Given the description of an element on the screen output the (x, y) to click on. 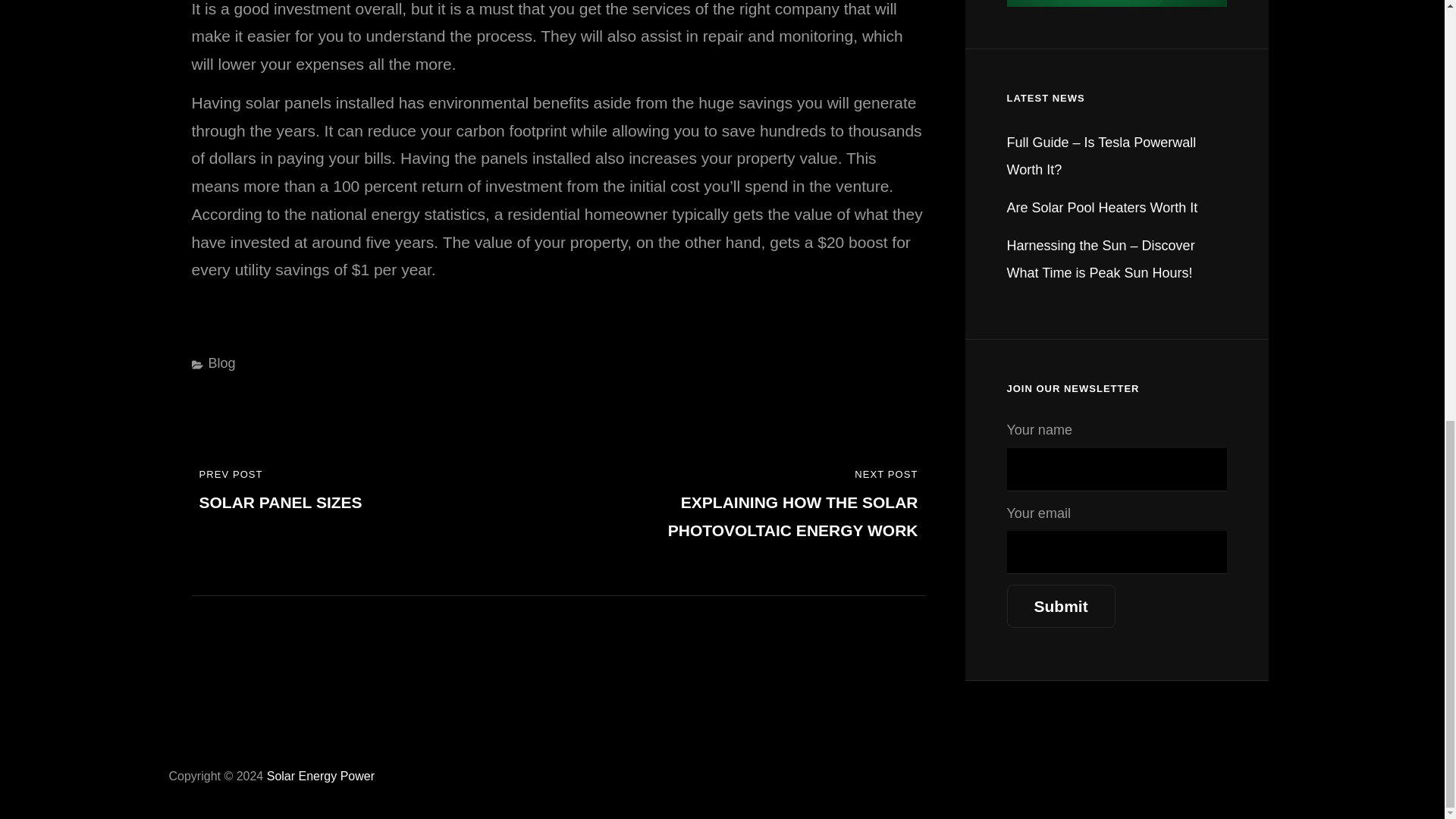
Solar Energy Power (320, 775)
Submit (1061, 606)
Submit (1061, 606)
Blog (221, 363)
Are Solar Pool Heaters Worth It (1102, 207)
